Given the description of an element on the screen output the (x, y) to click on. 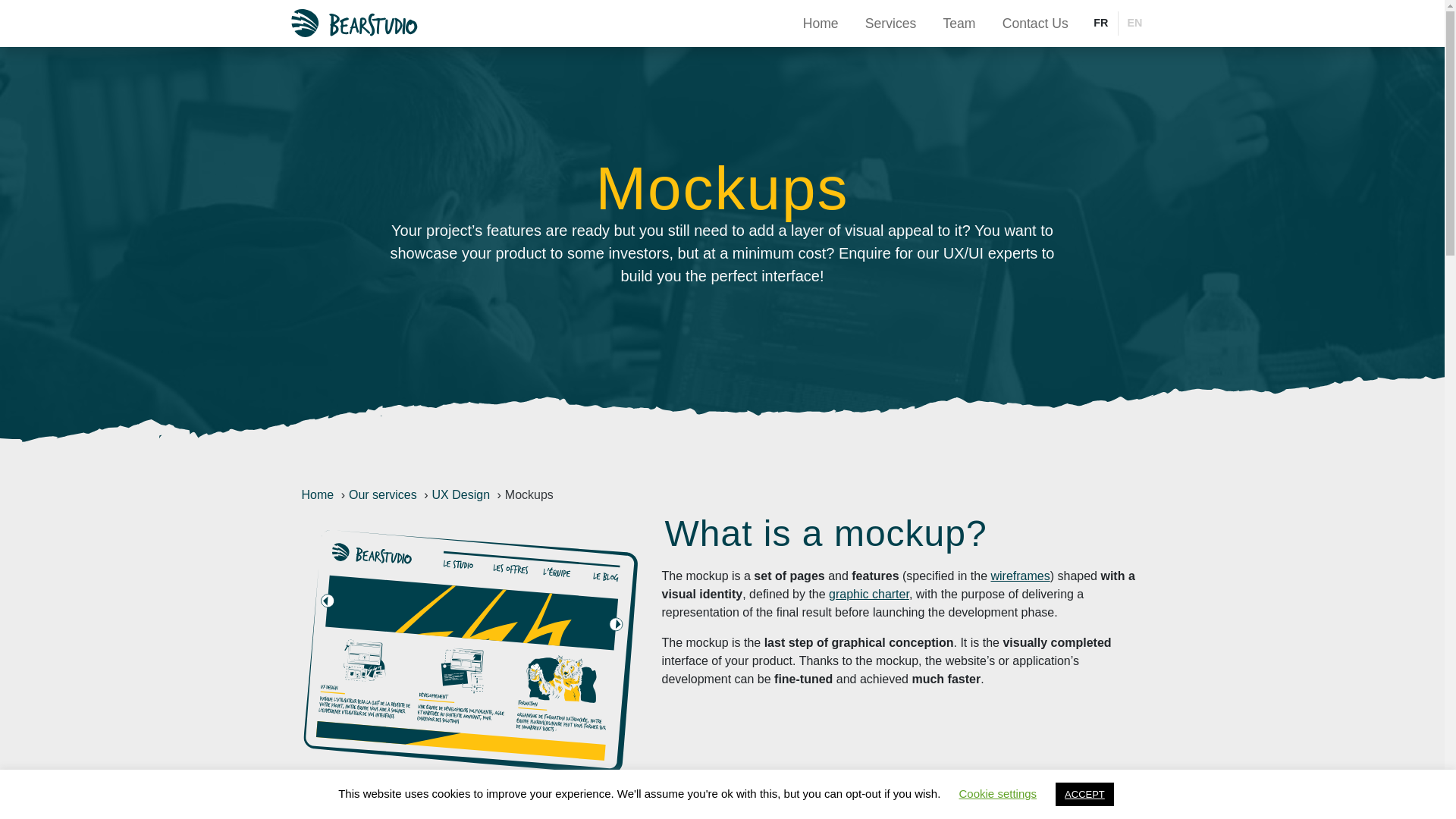
Services (890, 23)
Home (820, 23)
Our services (382, 494)
Home (317, 494)
UX Design (460, 494)
English (1134, 23)
Cookie settings (997, 793)
EN (1134, 23)
Contact Us (1034, 23)
ACCEPT (1084, 793)
wireframes (1019, 575)
Team (959, 23)
FR (1100, 23)
graphic charter (868, 594)
